Given the description of an element on the screen output the (x, y) to click on. 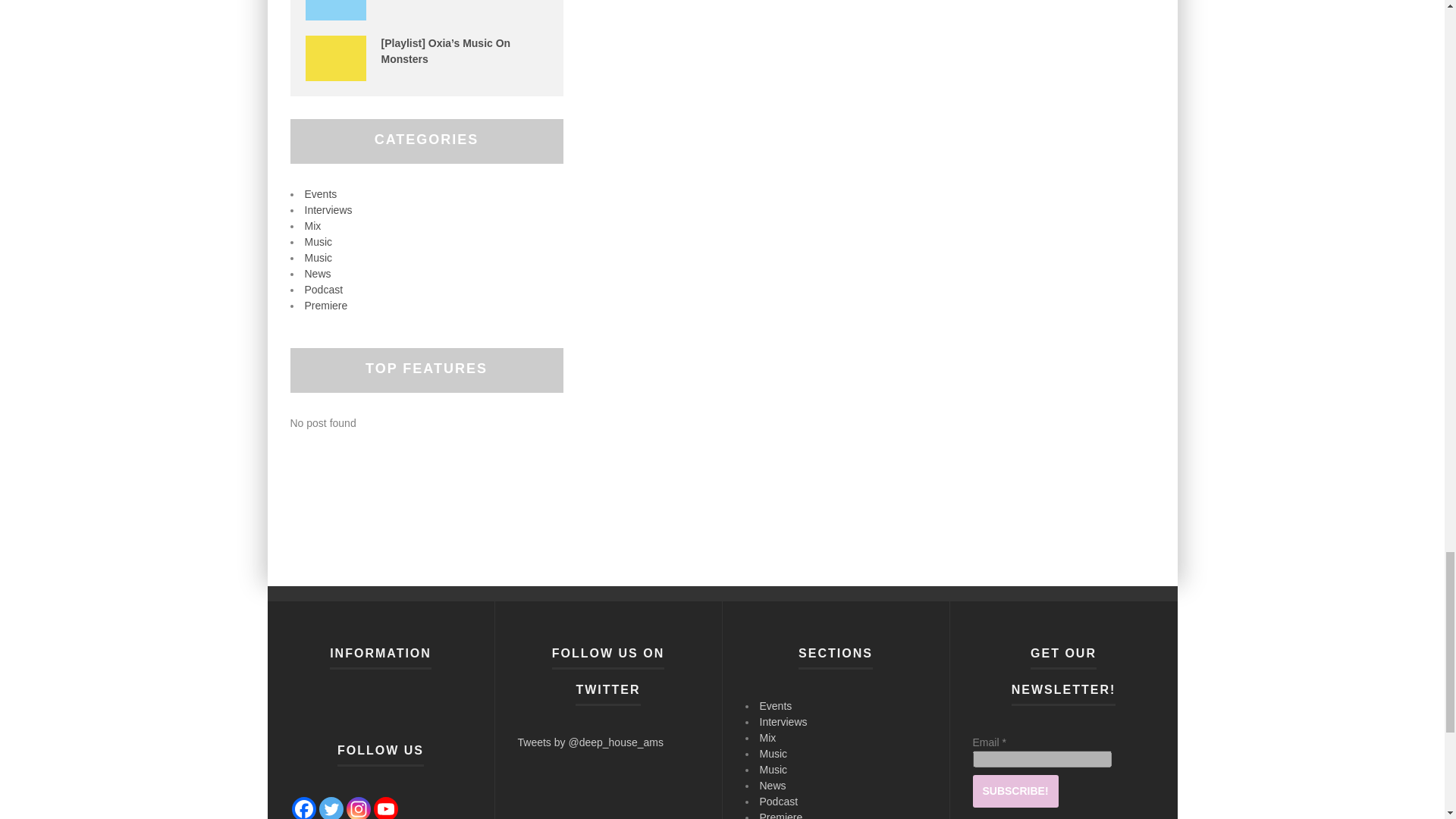
Youtube (384, 807)
Twitter (330, 807)
Facebook (303, 807)
Instagram (357, 807)
